Given the description of an element on the screen output the (x, y) to click on. 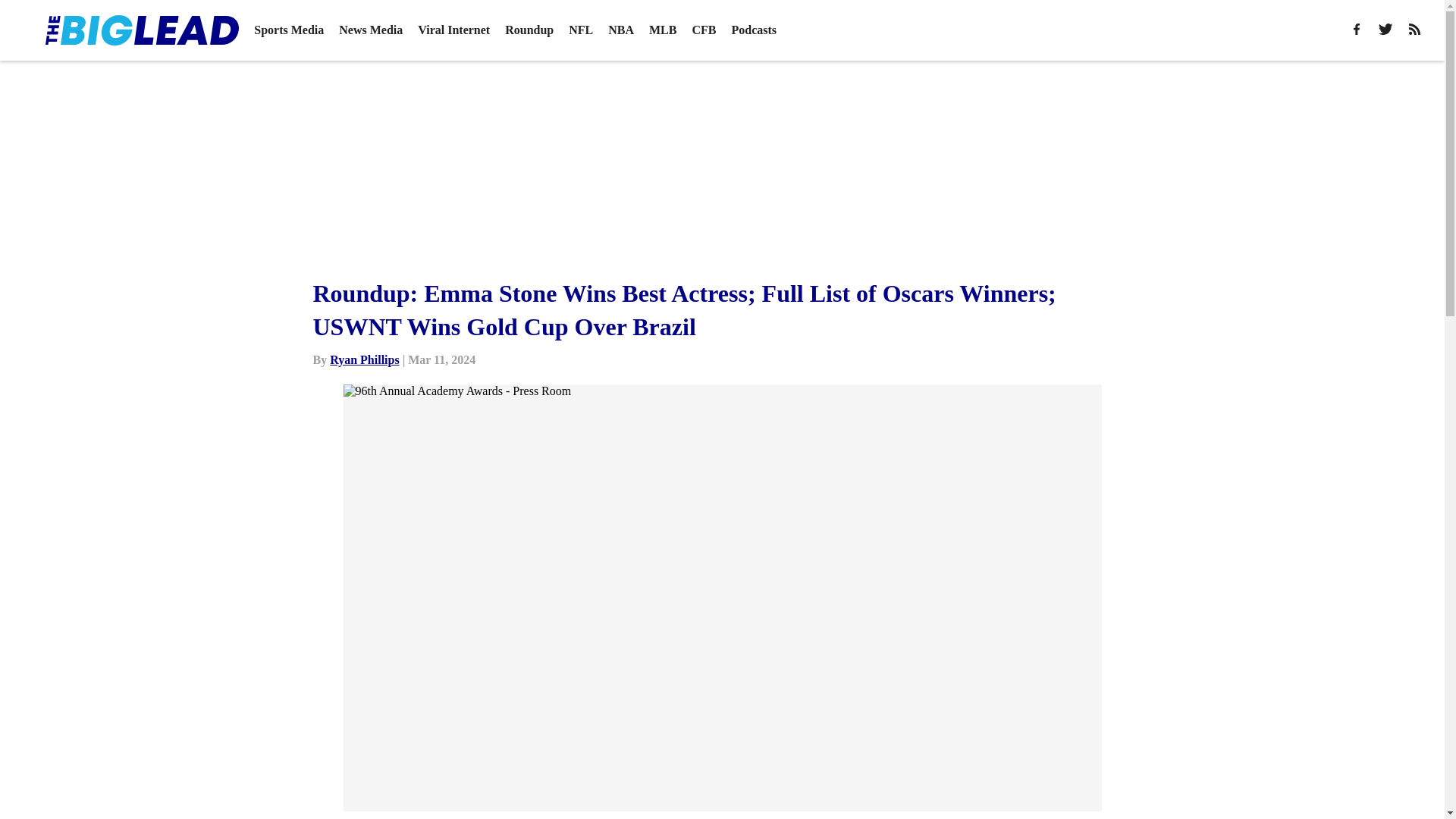
Viral Internet (453, 30)
Sports Media (288, 30)
Podcasts (753, 30)
NBA (620, 30)
News Media (371, 30)
Roundup (529, 30)
MLB (663, 30)
NFL (580, 30)
CFB (703, 30)
